Given the description of an element on the screen output the (x, y) to click on. 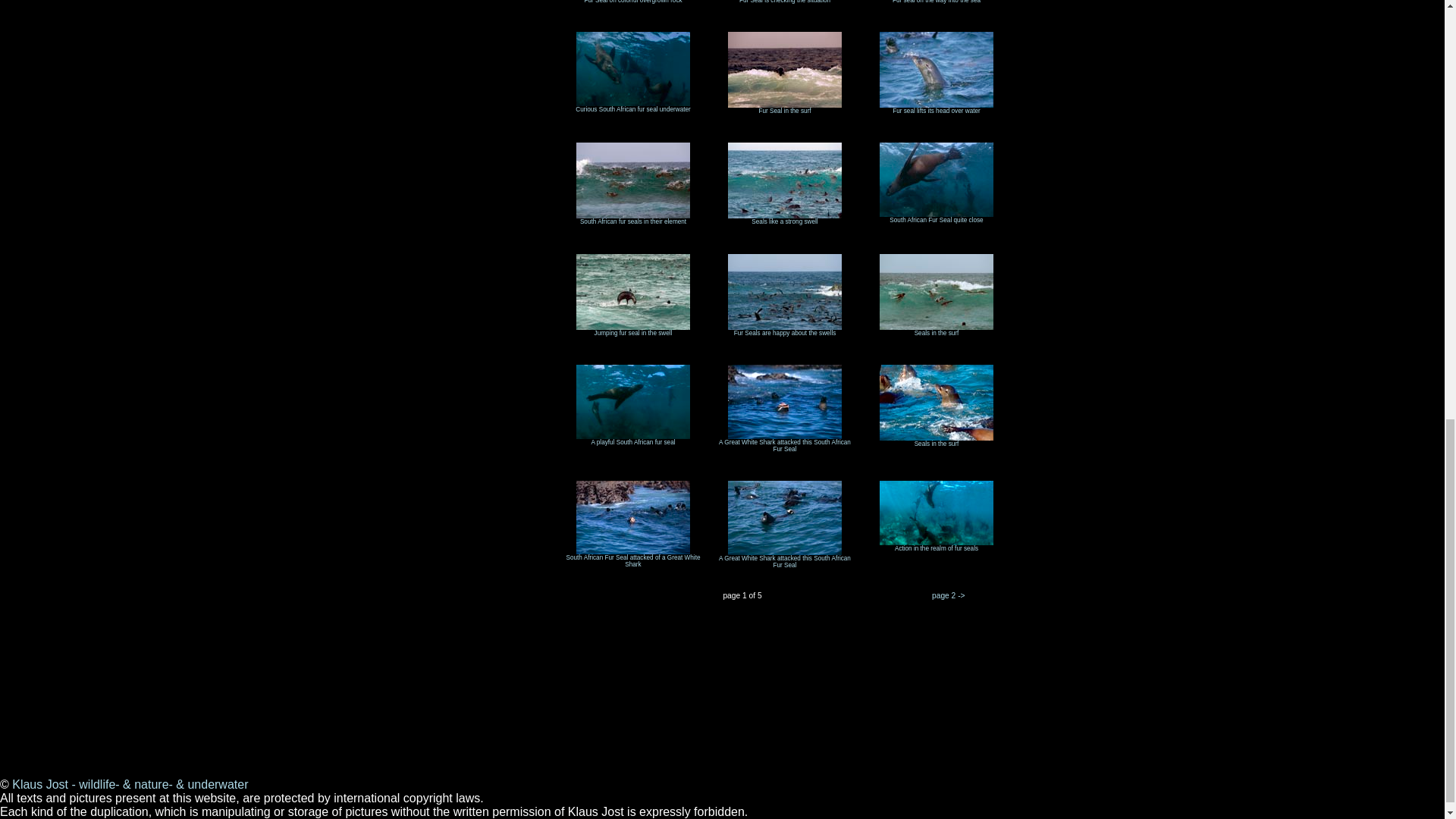
Advertisement (275, 730)
